Given the description of an element on the screen output the (x, y) to click on. 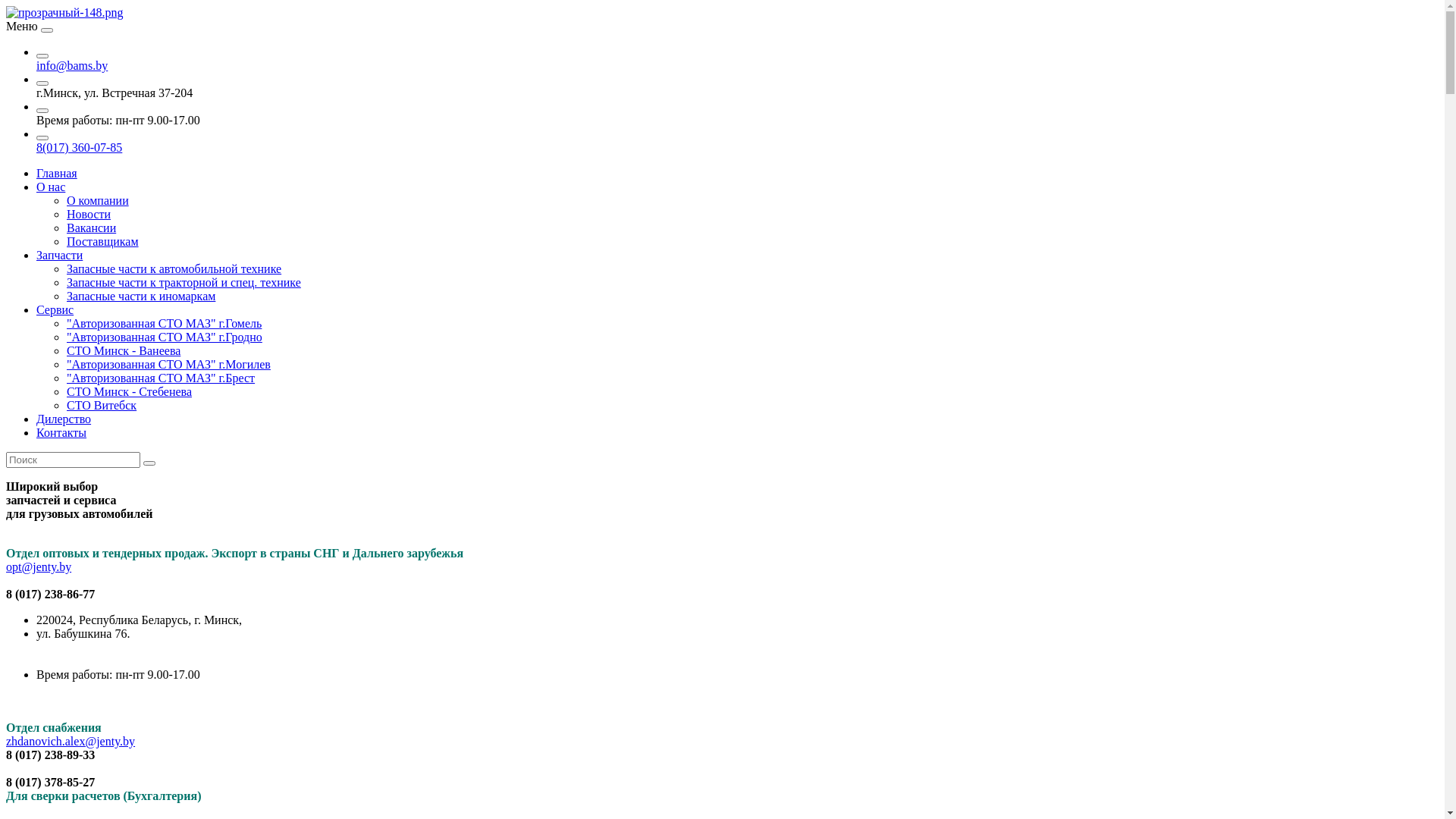
8(017) 360-07-85 Element type: text (79, 147)
zhdanovich.alex@jenty.by Element type: text (70, 740)
info@bams.by Element type: text (71, 65)
opt@jenty.by Element type: text (38, 566)
